Given the description of an element on the screen output the (x, y) to click on. 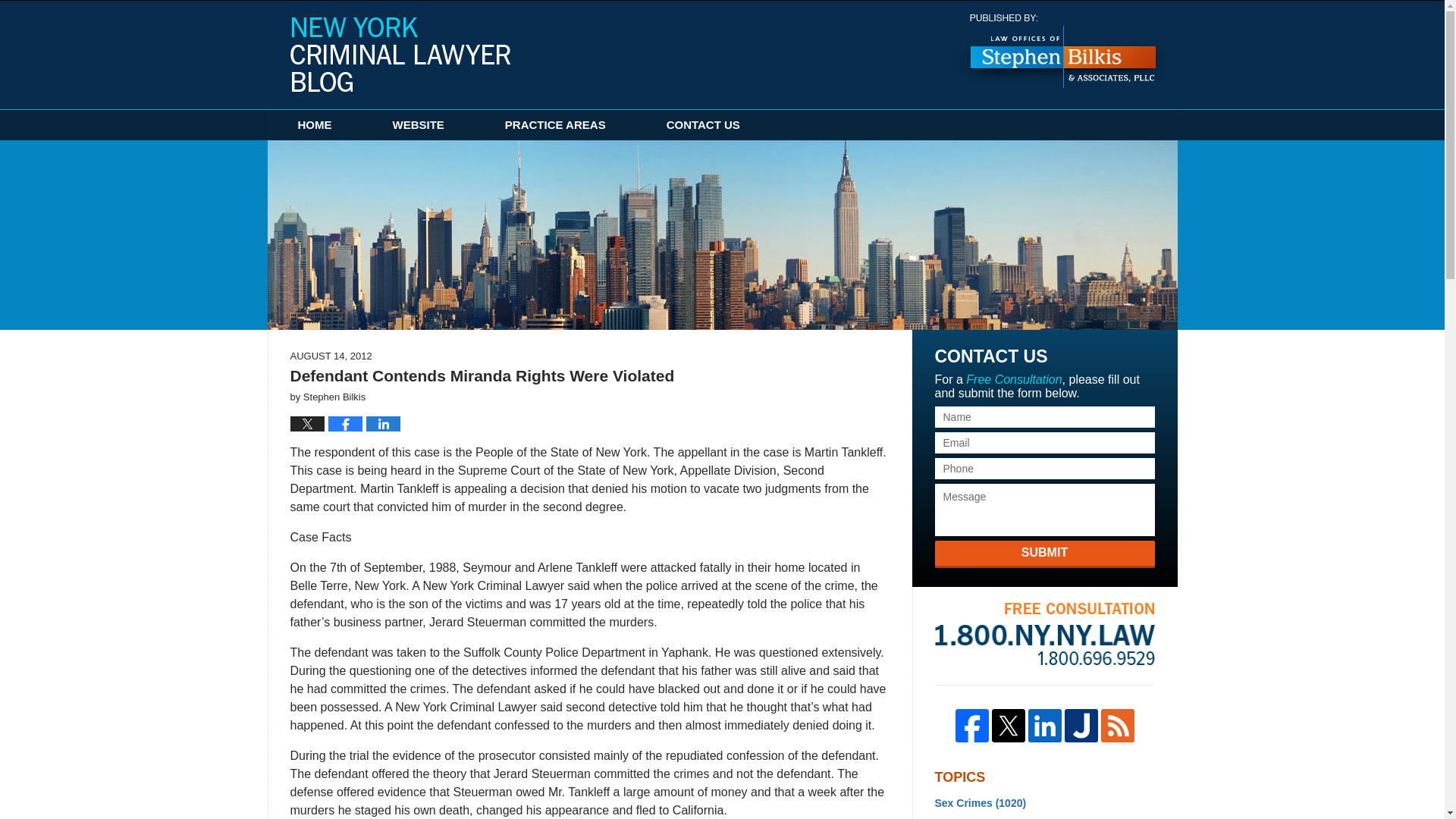
Please enter a valid phone number. (1044, 468)
CONTACT US (703, 124)
WEBSITE (418, 124)
Twitter (1008, 725)
HOME (313, 124)
Justia (1080, 725)
LinkedIn (1044, 725)
Feed (1117, 725)
PRACTICE AREAS (555, 124)
Facebook (971, 725)
SUBMIT (1044, 554)
New York Criminal Lawyer Blog (399, 54)
